Given the description of an element on the screen output the (x, y) to click on. 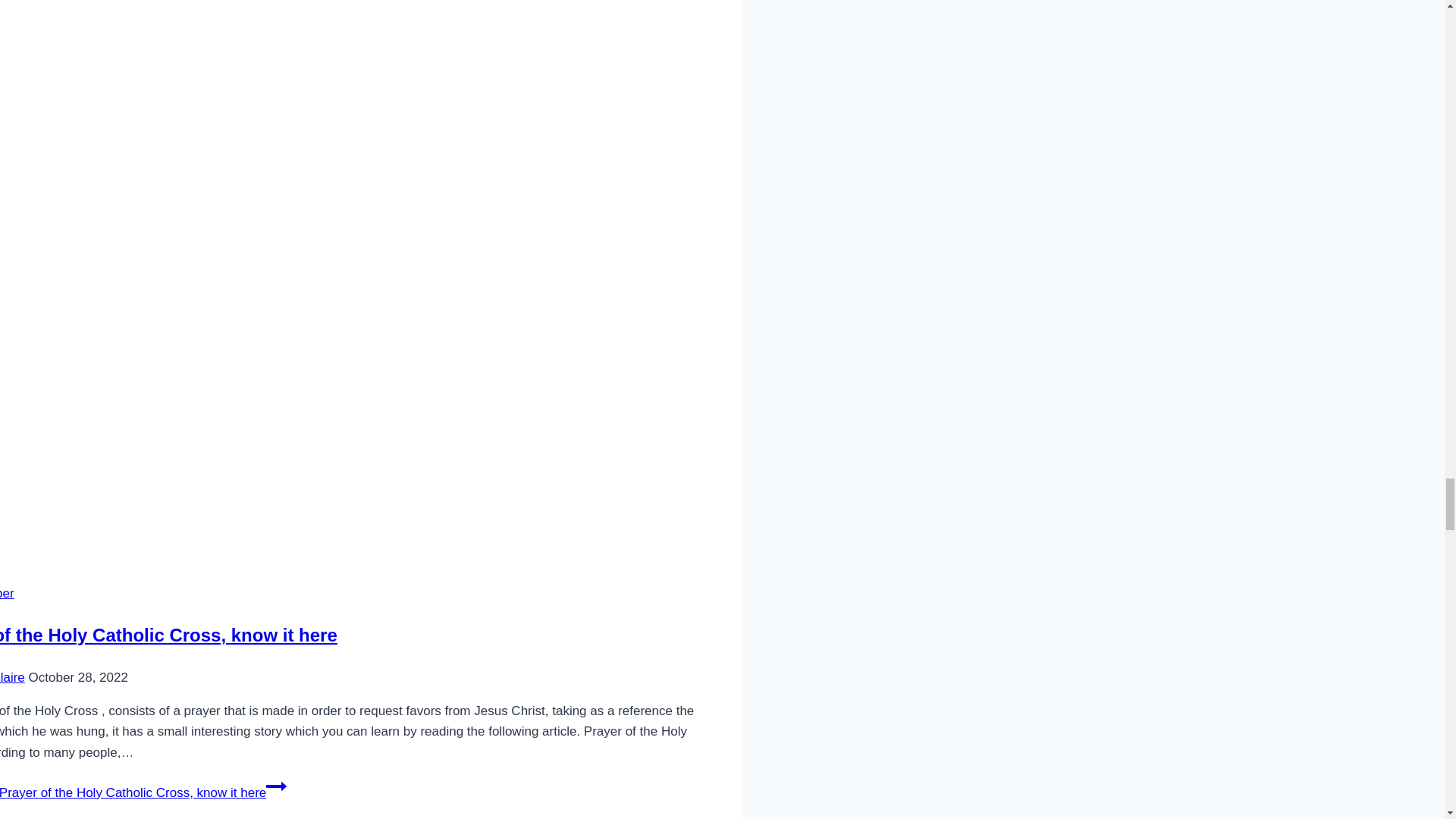
Prayer of the Holy Catholic Cross, know it here (168, 634)
Kelly D Claire (12, 677)
Continue (276, 785)
Angel Number (7, 593)
